Given the description of an element on the screen output the (x, y) to click on. 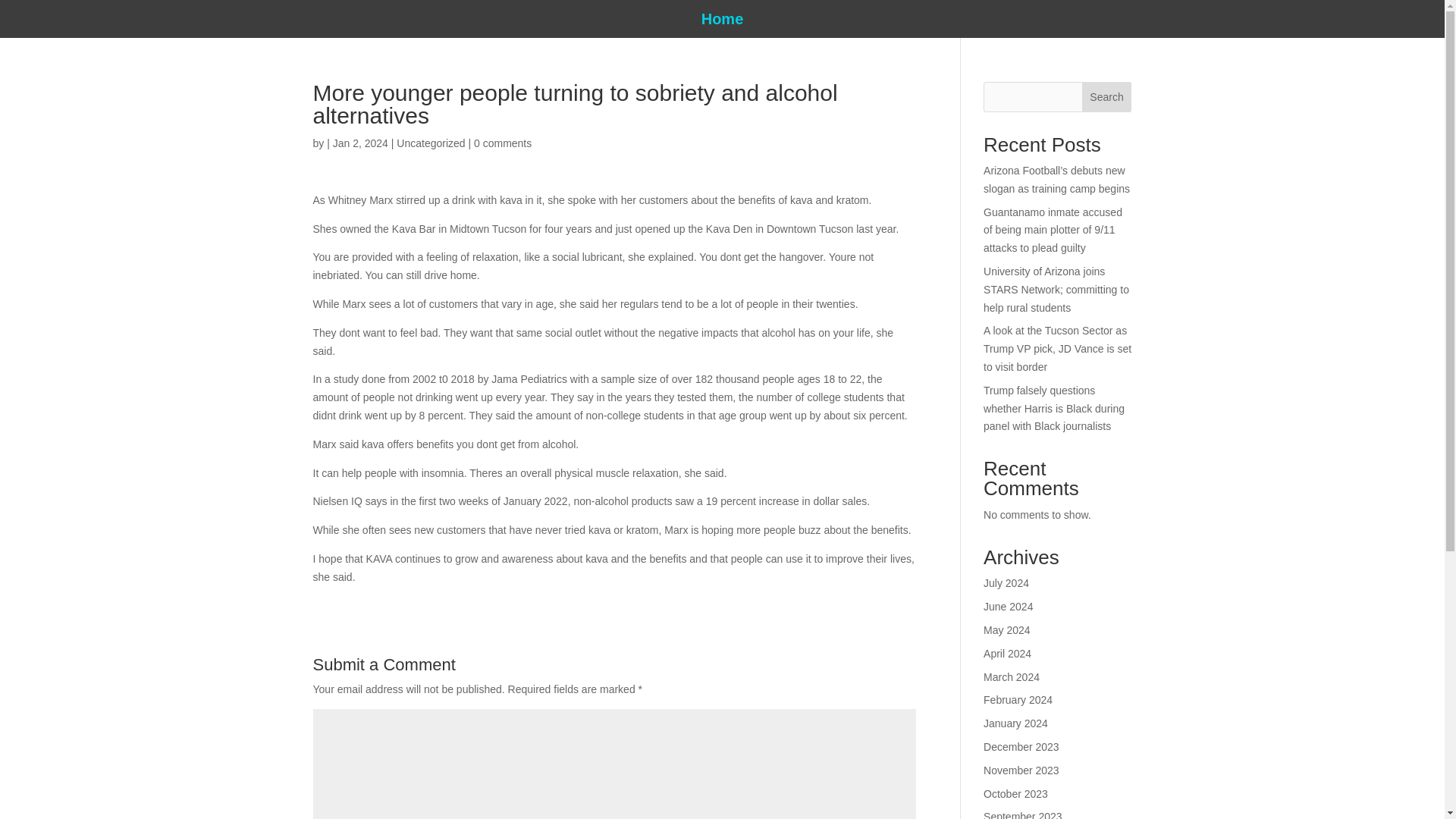
0 comments (502, 143)
May 2024 (1006, 630)
February 2024 (1018, 699)
December 2023 (1021, 746)
November 2023 (1021, 770)
Search (1106, 96)
Uncategorized (430, 143)
September 2023 (1023, 814)
Home (722, 21)
January 2024 (1016, 723)
October 2023 (1016, 793)
July 2024 (1006, 582)
March 2024 (1011, 676)
